Given the description of an element on the screen output the (x, y) to click on. 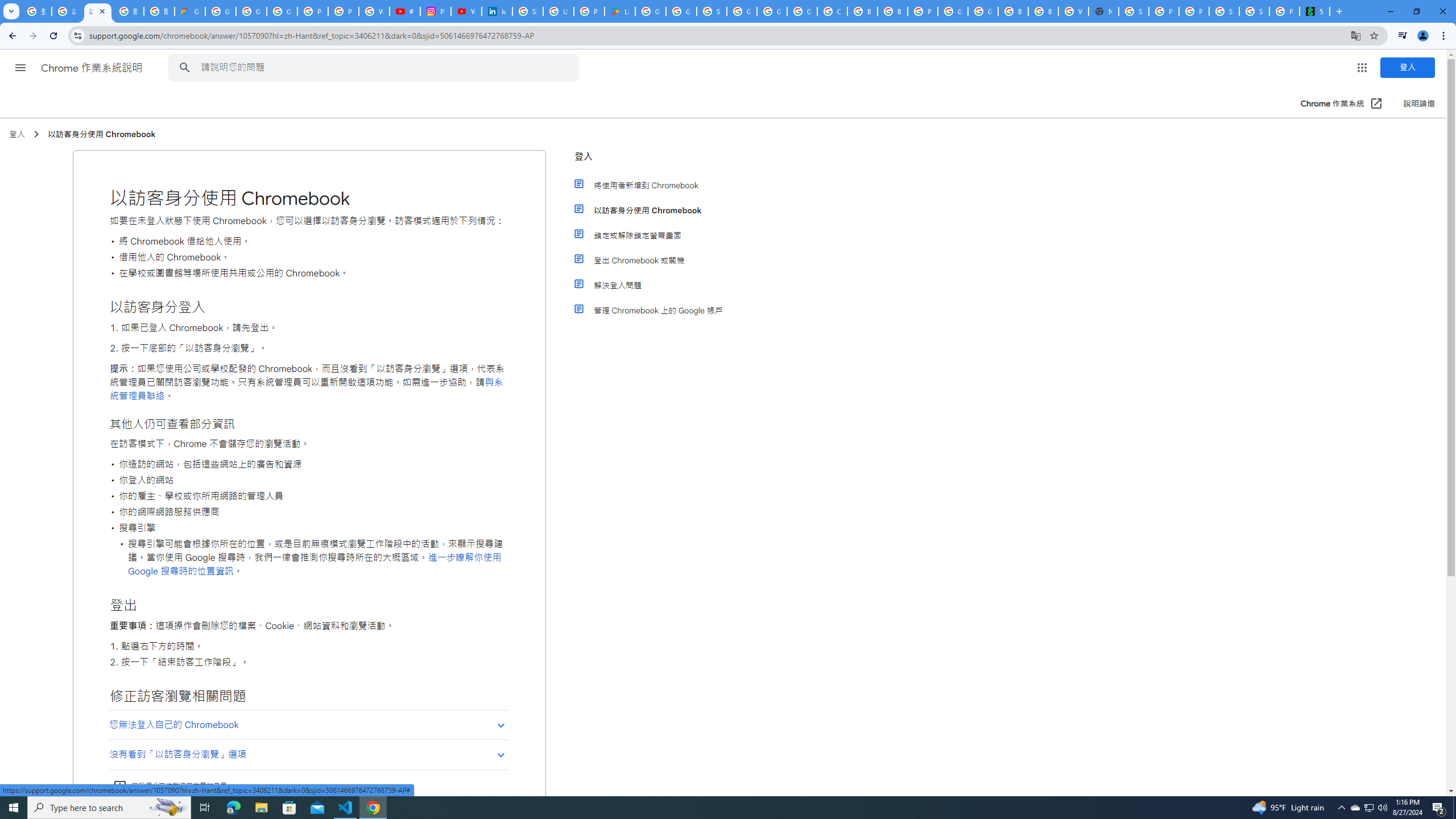
Identity verification via Persona | LinkedIn Help (496, 11)
Translate this page (1355, 35)
Sign in - Google Accounts (1133, 11)
